Given the description of an element on the screen output the (x, y) to click on. 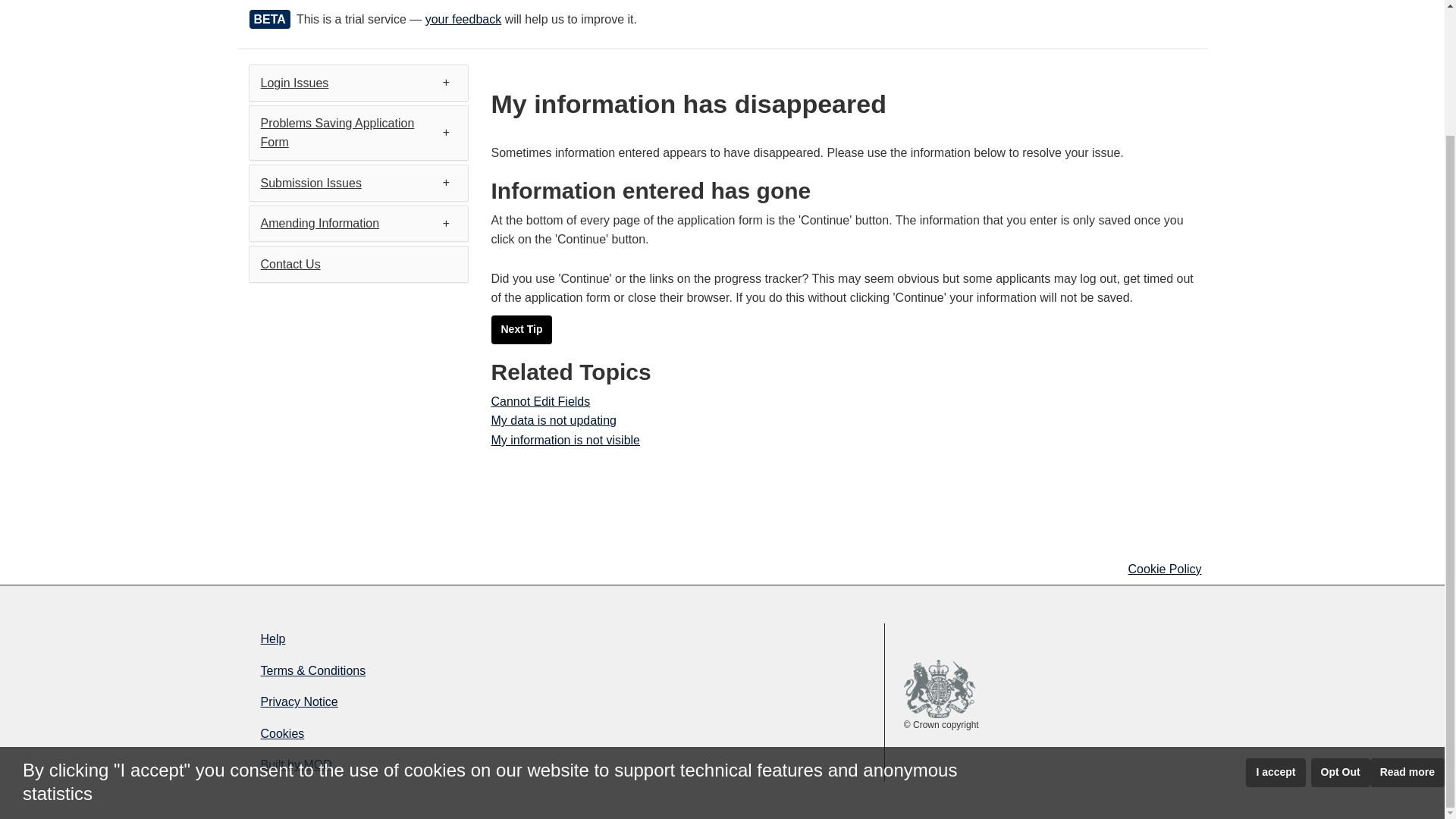
My data is not updating (553, 420)
Next Tip (522, 329)
Contact Us (290, 264)
Cookie Policy (1165, 568)
My information is not visible (566, 440)
Submission Issues (310, 182)
your feedback (463, 19)
Help (399, 639)
Amending Information (320, 223)
Login Issues (294, 82)
I accept (1275, 620)
Opt Out (1340, 620)
Problems Saving Application Form (337, 133)
Cannot Edit Fields (541, 400)
